Given the description of an element on the screen output the (x, y) to click on. 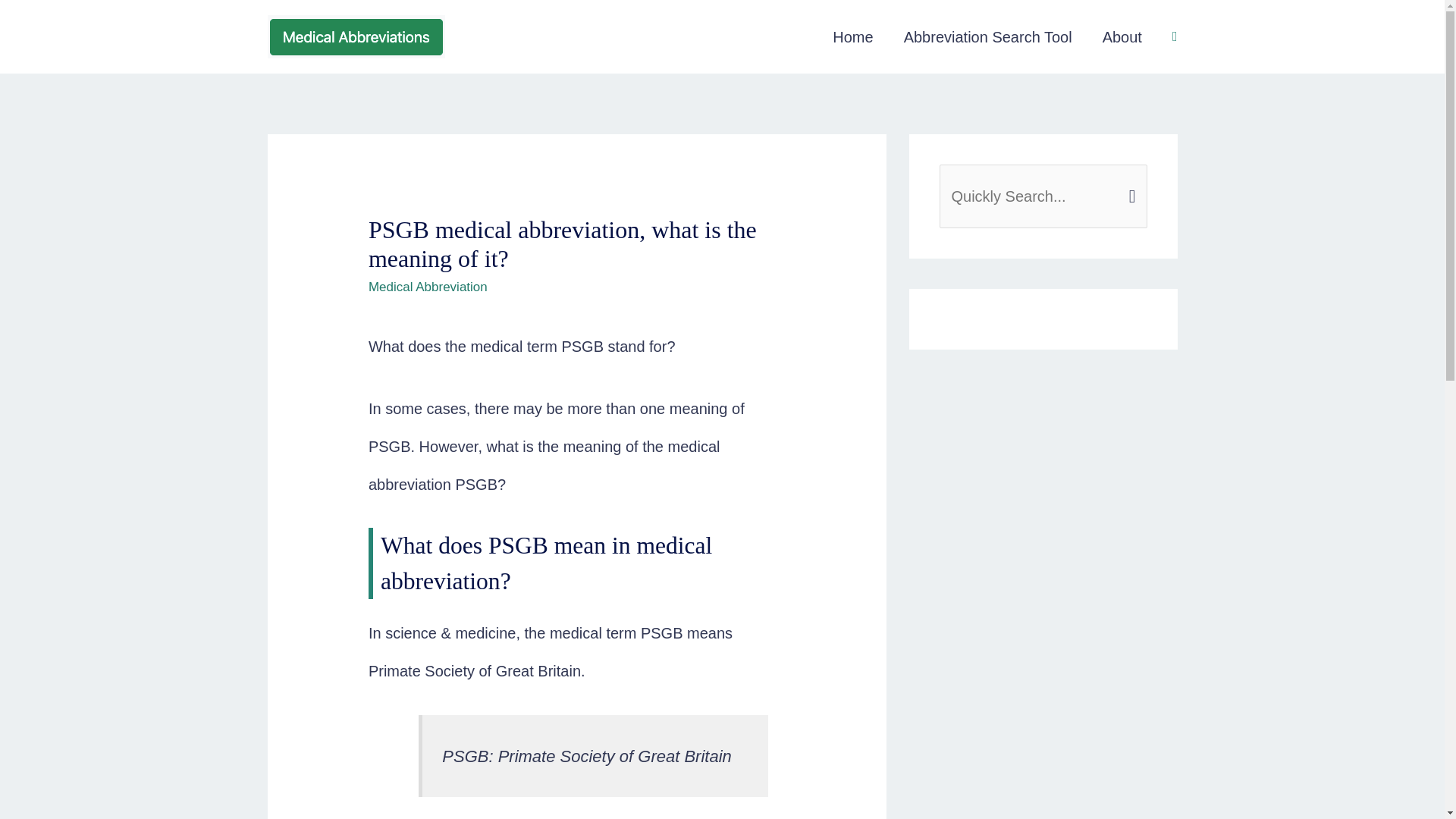
Medical Abbreviation (427, 287)
Abbreviation Search Tool (987, 36)
Home (852, 36)
About (1122, 36)
Search (1130, 181)
Search (1130, 181)
Search (1130, 181)
